Given the description of an element on the screen output the (x, y) to click on. 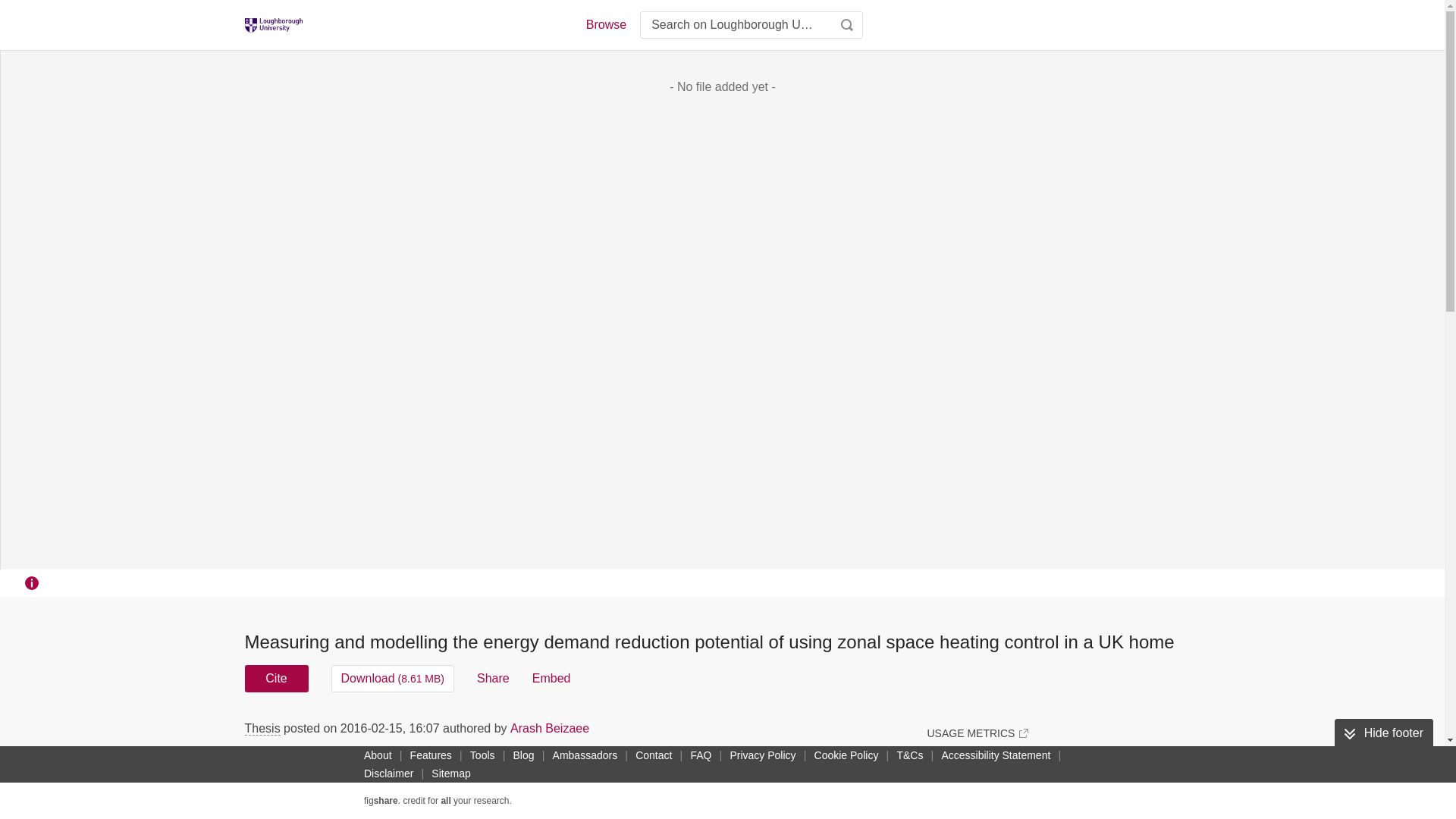
Tools (482, 755)
FAQ (700, 755)
Privacy Policy (762, 755)
Hide footer (1383, 733)
Share (493, 678)
About (377, 755)
Features (431, 755)
Cookie Policy (846, 755)
Embed (551, 678)
Contact (653, 755)
Cite (275, 678)
Ambassadors (585, 755)
USAGE METRICS (976, 732)
Browse (605, 24)
Arash Beizaee (550, 727)
